Given the description of an element on the screen output the (x, y) to click on. 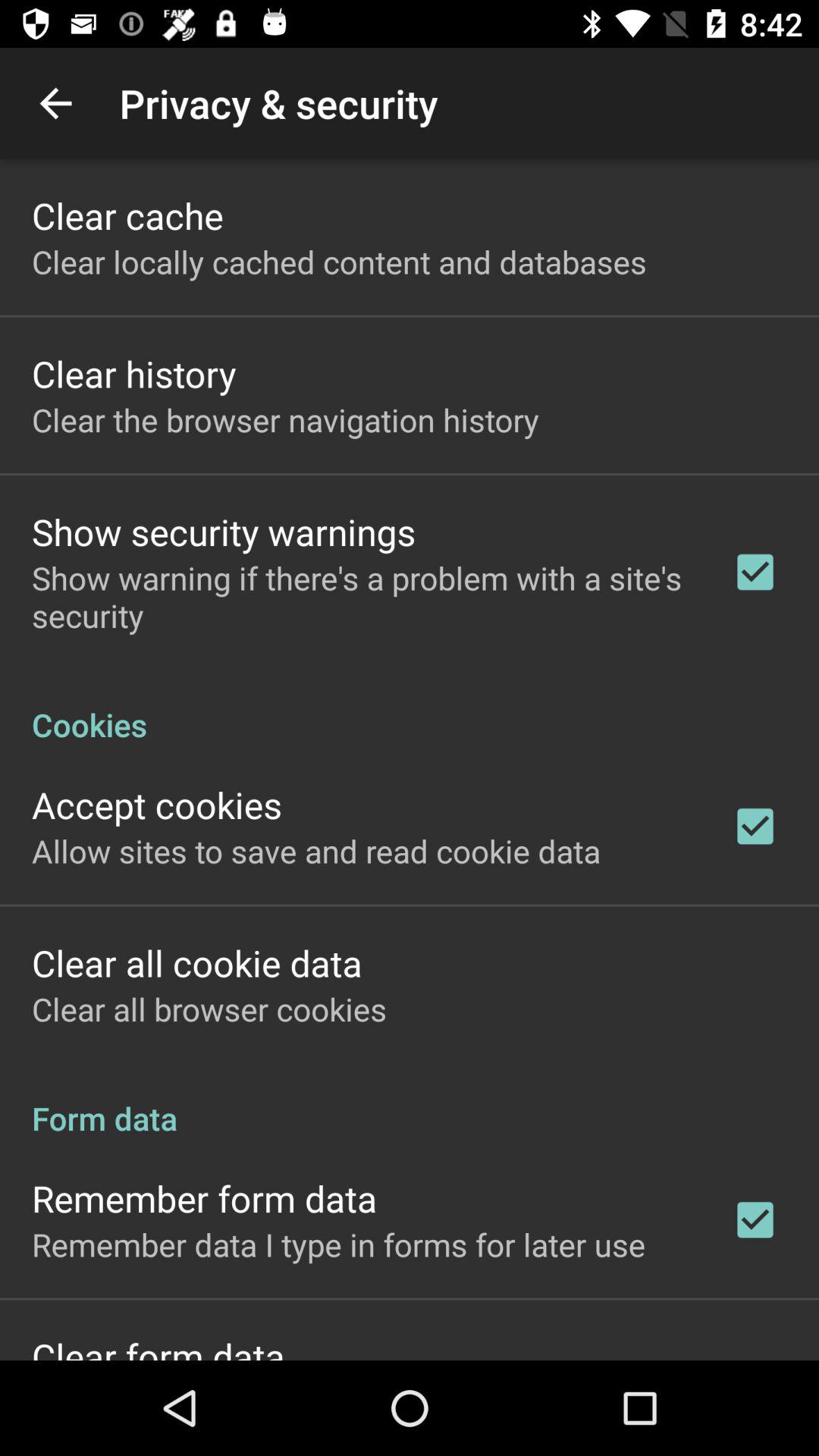
press item below the accept cookies (315, 850)
